Given the description of an element on the screen output the (x, y) to click on. 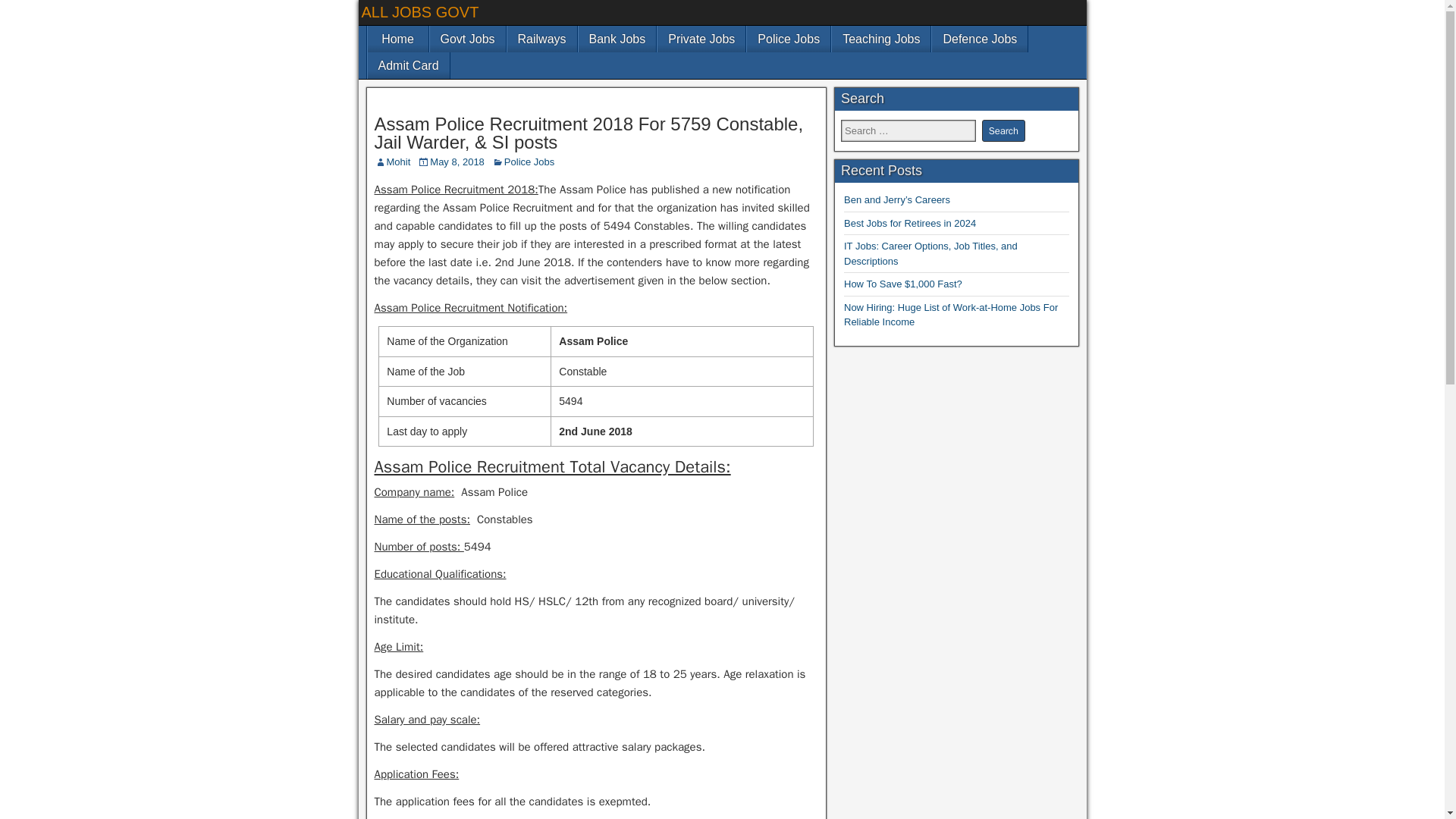
Search (1003, 130)
Govt Jobs (467, 38)
ALL JOBS GOVT (420, 12)
Search (1003, 130)
Mohit (398, 161)
IT Jobs: Career Options, Job Titles, and Descriptions (930, 253)
Search (1003, 130)
Bank Jobs (617, 38)
Teaching Jobs (880, 38)
Railways (541, 38)
Police Jobs (528, 161)
Police Jobs (787, 38)
Private Jobs (701, 38)
May 8, 2018 (456, 161)
